Given the description of an element on the screen output the (x, y) to click on. 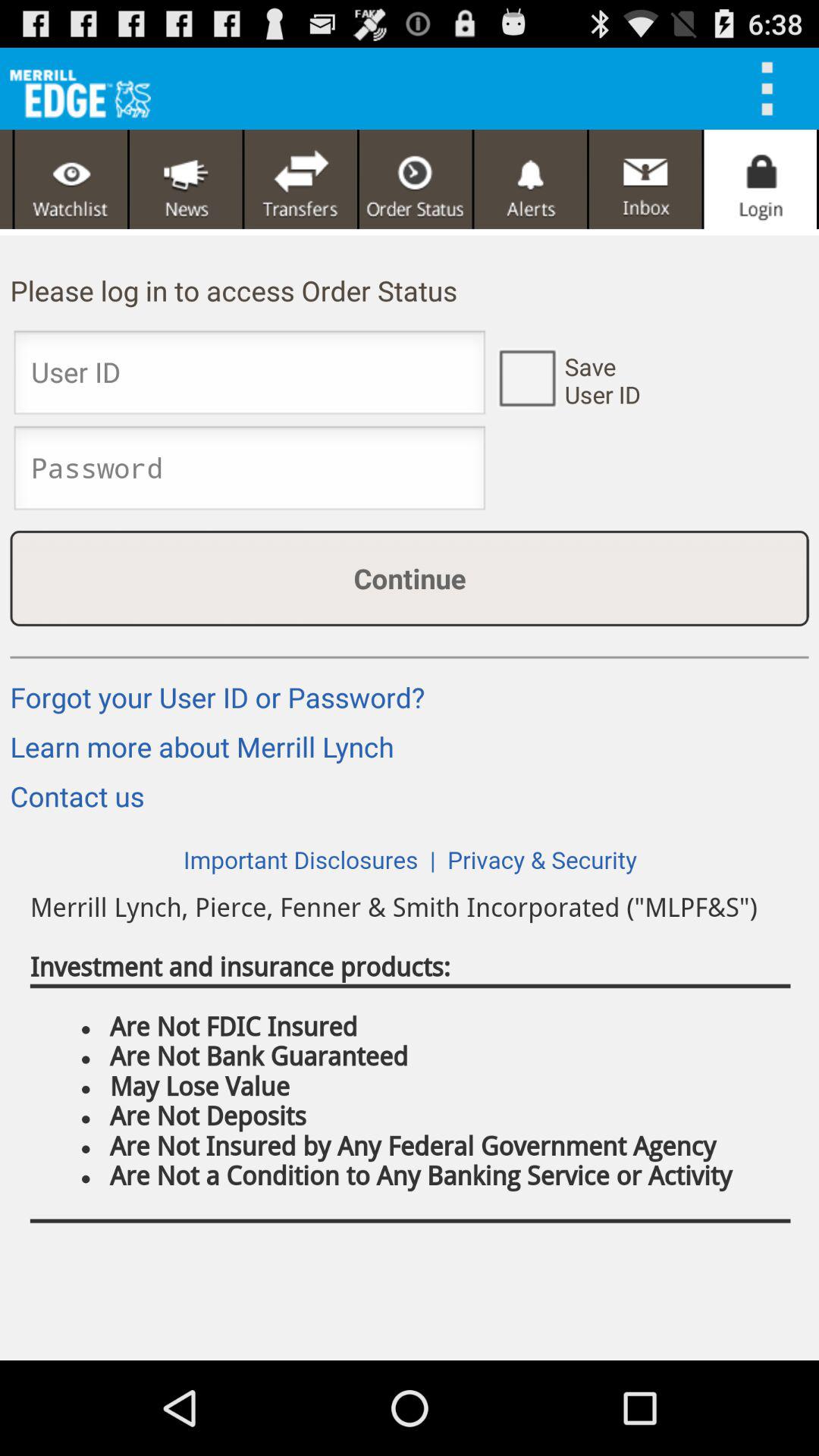
input user id for app (249, 376)
